Given the description of an element on the screen output the (x, y) to click on. 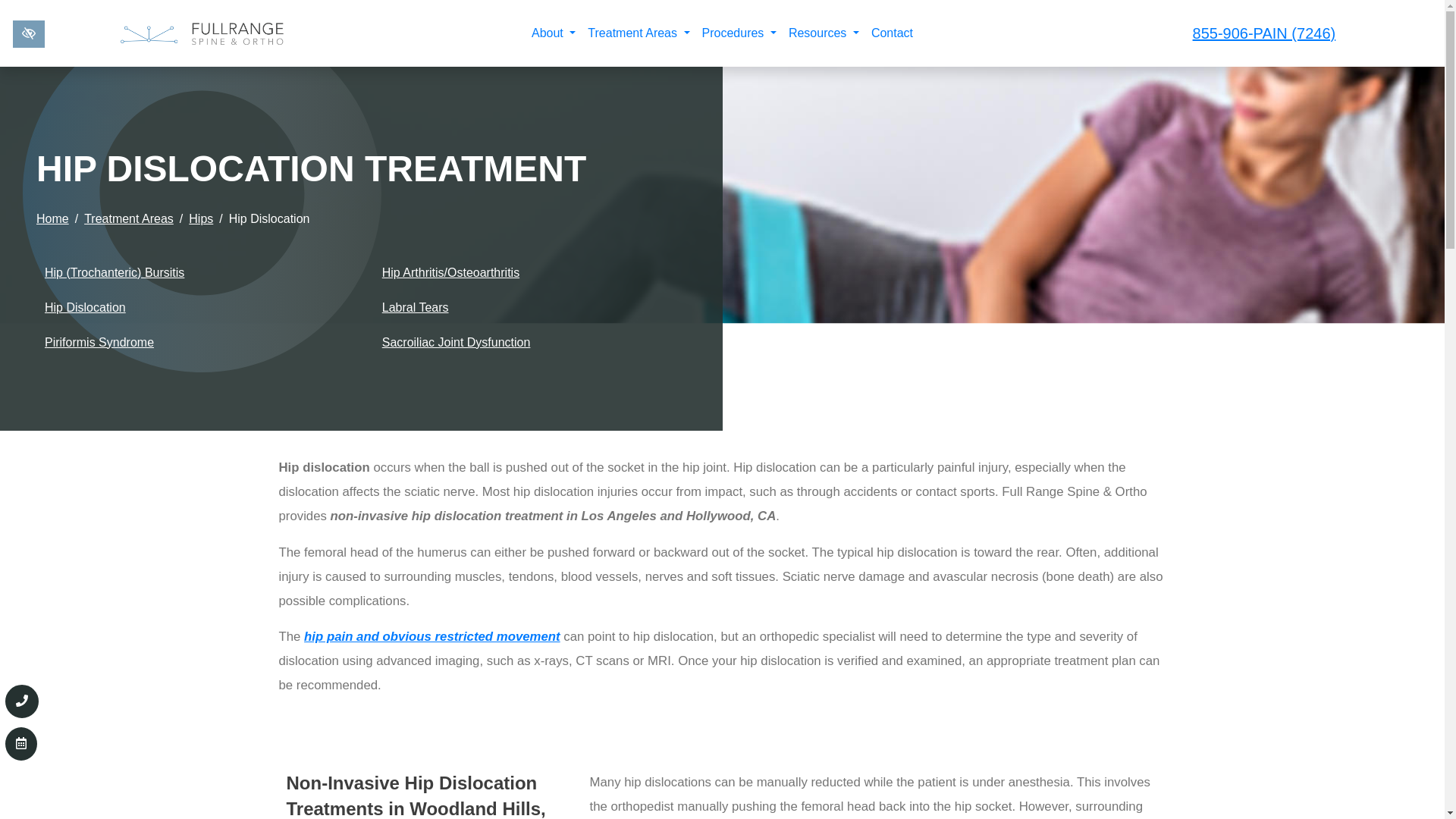
Los Angeles CA Hip Pain Causes, Symptoms, Treatment (432, 636)
Treatment Areas (637, 33)
About (552, 33)
Skip to main content (9, 4)
